Given the description of an element on the screen output the (x, y) to click on. 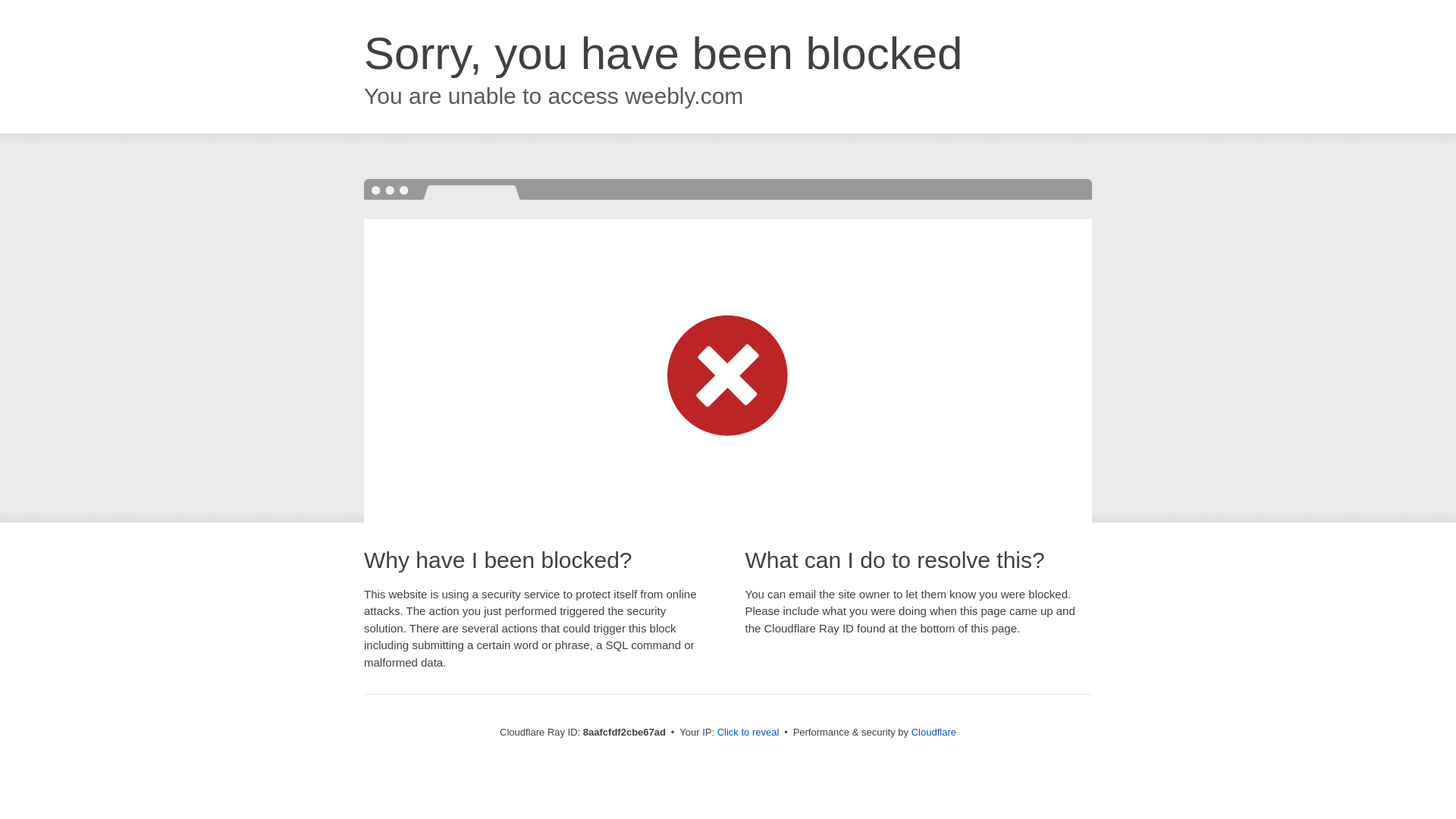
Cloudflare (933, 731)
Click to reveal (747, 732)
